Given the description of an element on the screen output the (x, y) to click on. 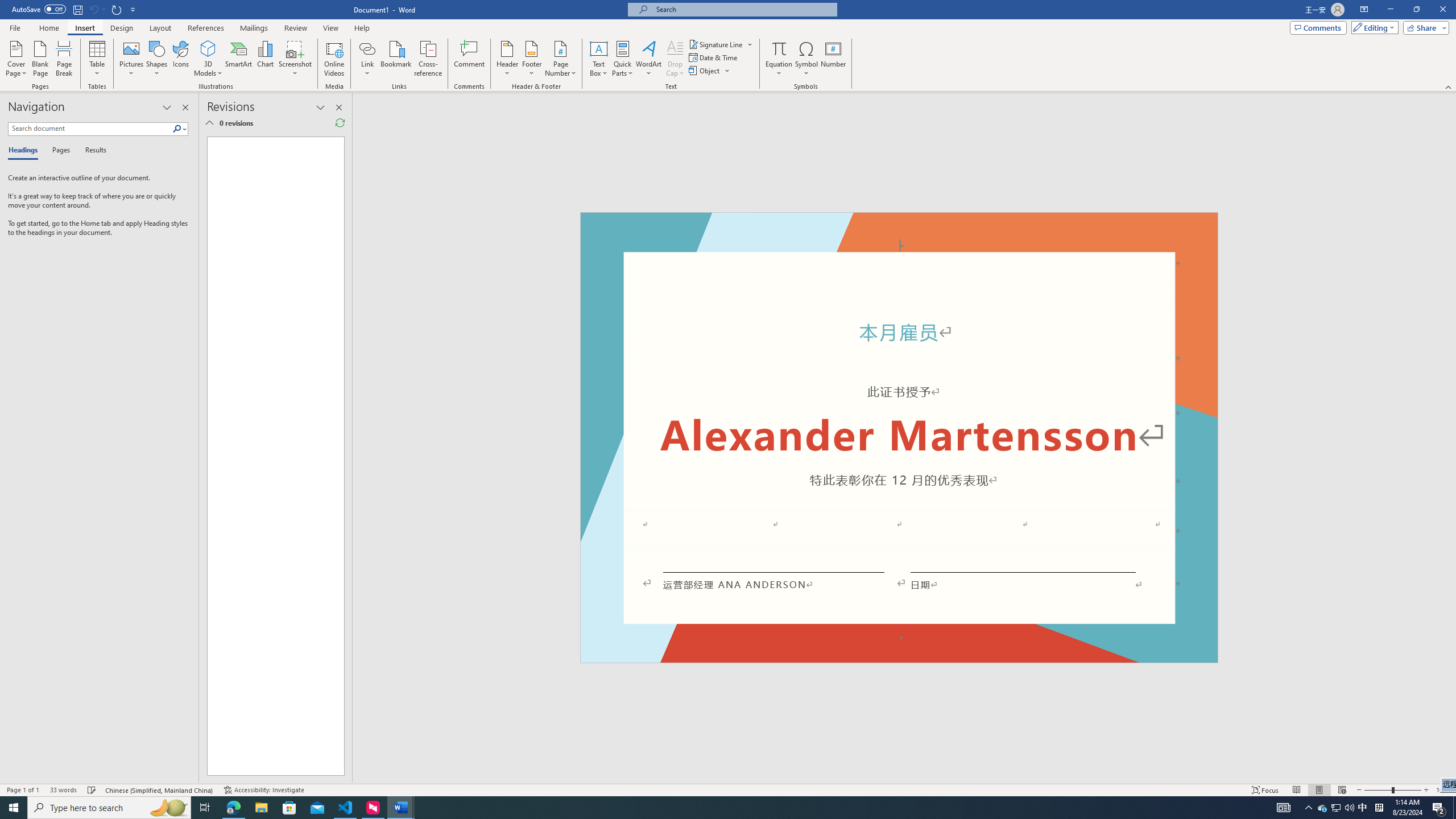
Drop Cap (674, 58)
3D Models (208, 48)
Class: MsoCommandBar (728, 789)
Repeat Doc Close (117, 9)
Symbol (806, 58)
Footer -Section 1- (898, 657)
Results (91, 150)
